Given the description of an element on the screen output the (x, y) to click on. 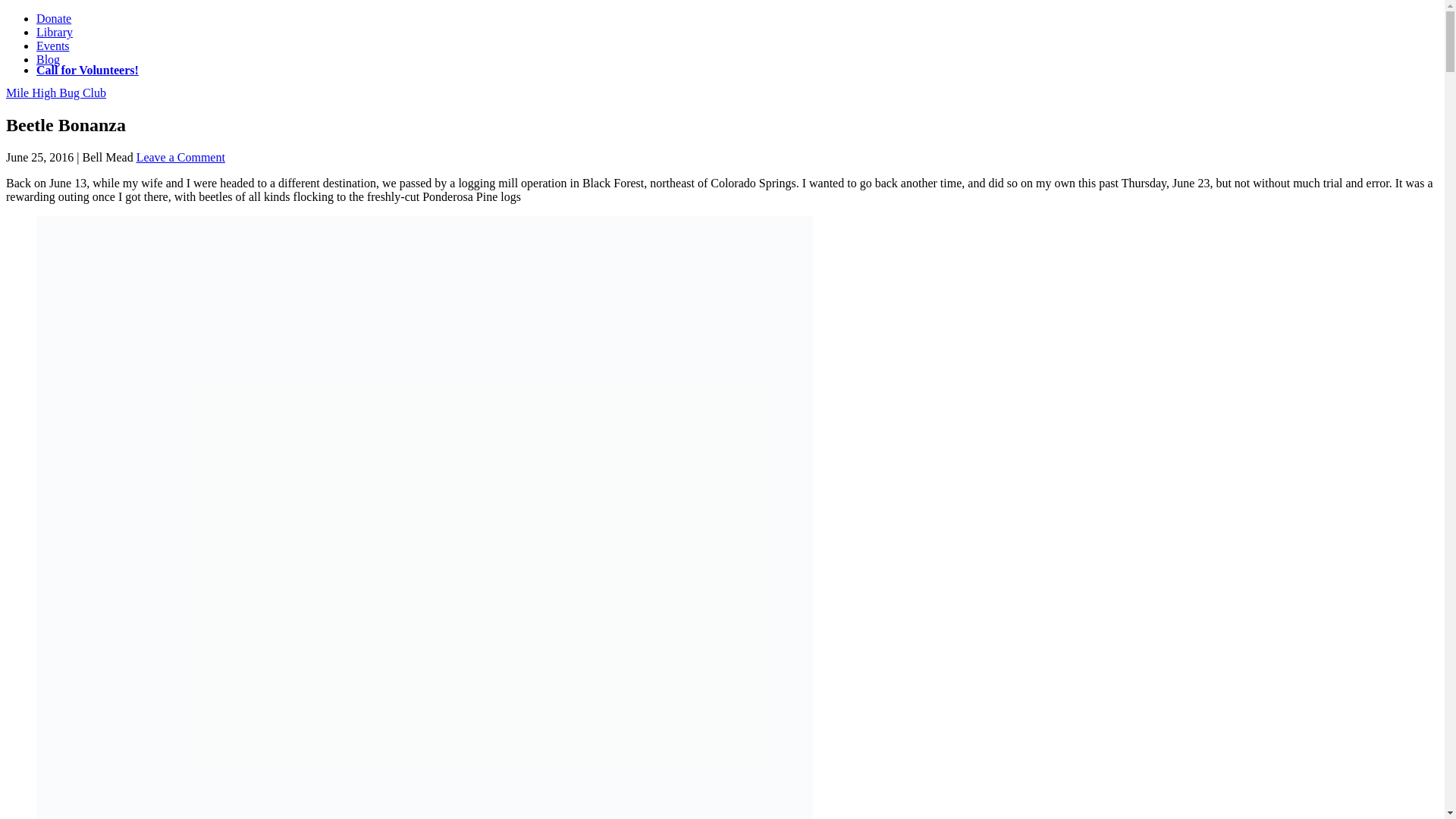
Call for Volunteers! (87, 69)
Blog (47, 59)
Events (52, 45)
Library (54, 31)
Donate (53, 18)
Leave a Comment (180, 156)
Mile High Bug Club (55, 92)
